Given the description of an element on the screen output the (x, y) to click on. 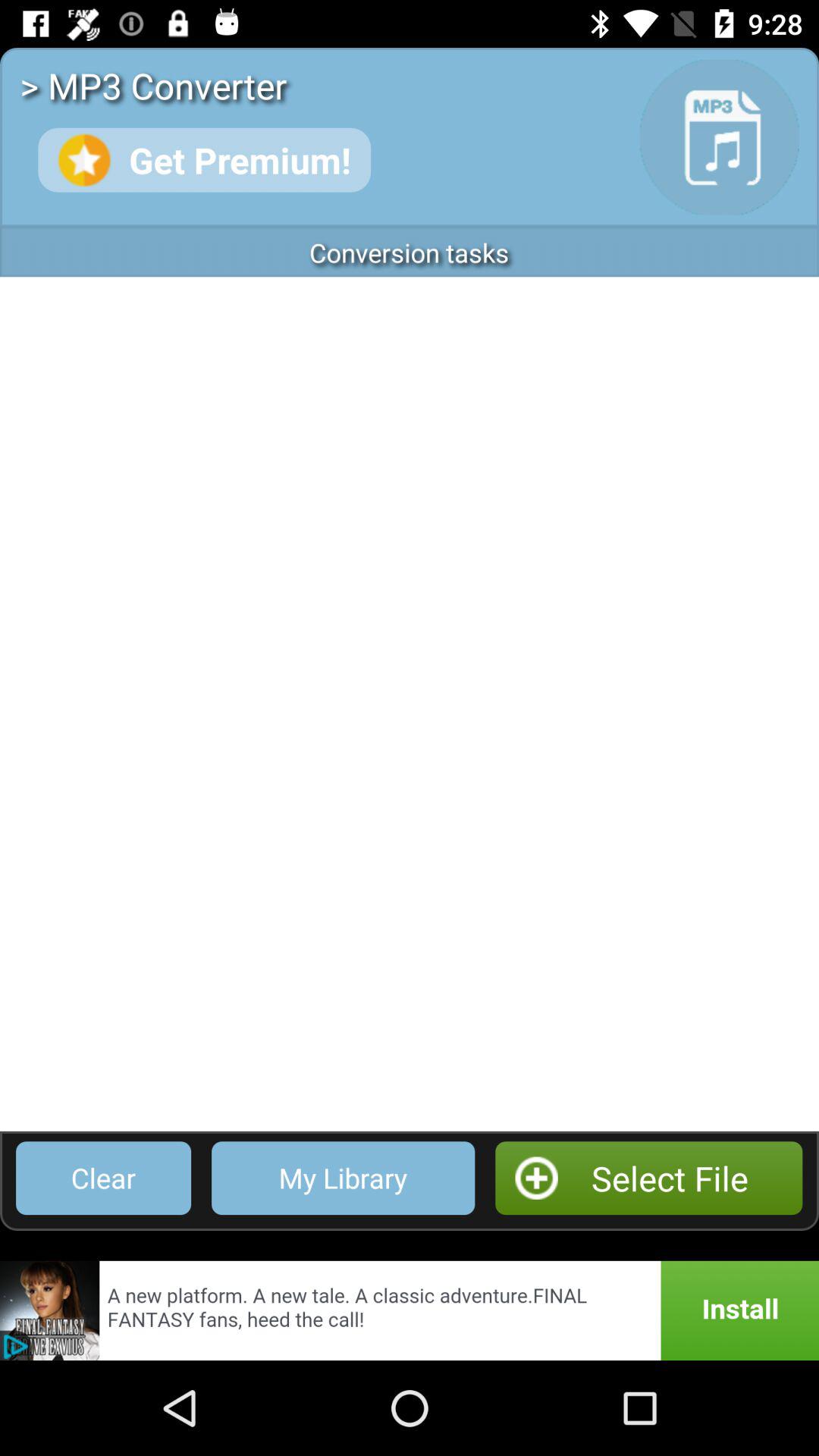
turn off icon below the > mp3 converter (204, 159)
